Given the description of an element on the screen output the (x, y) to click on. 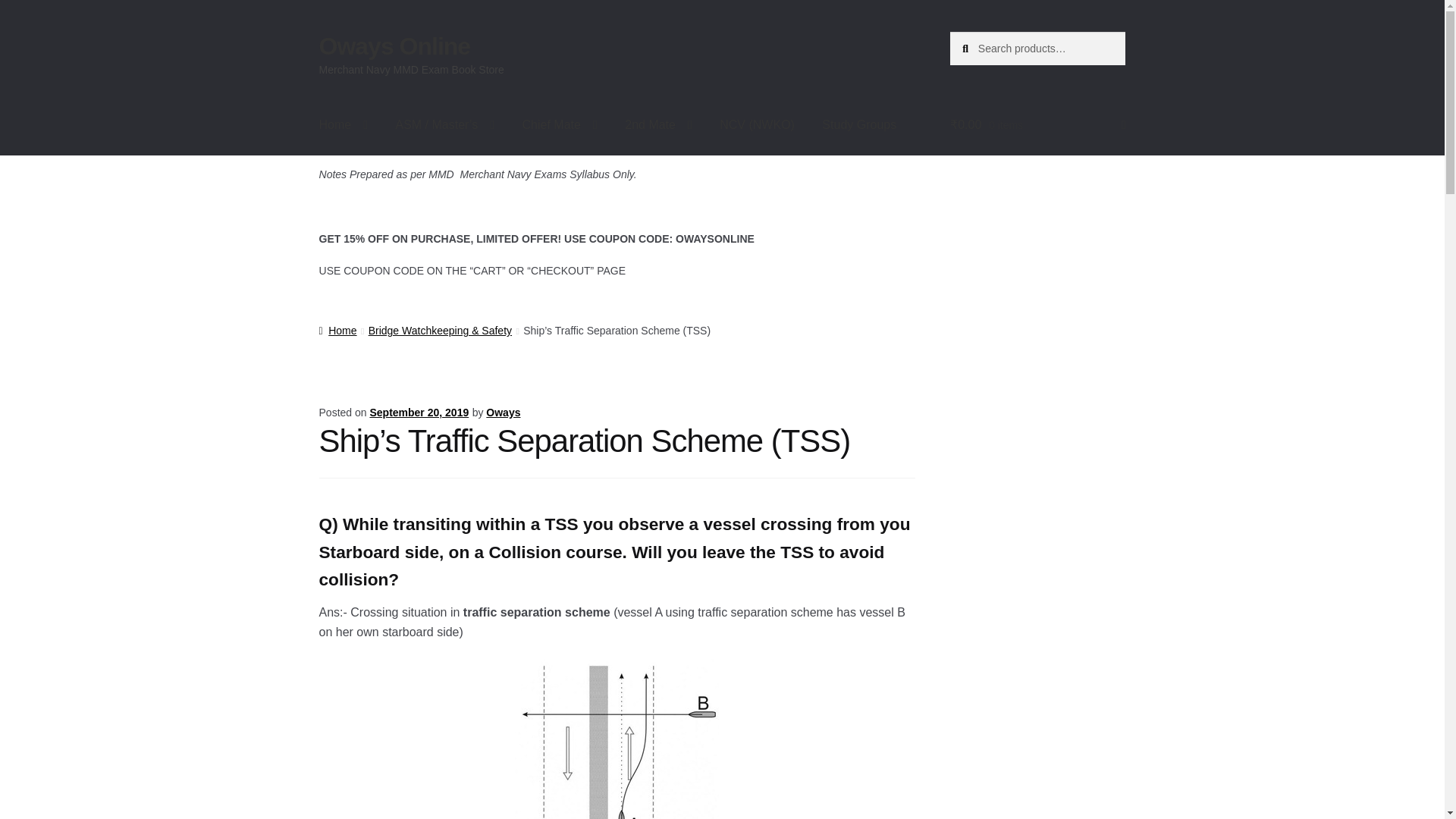
2nd Mate (658, 124)
View your shopping cart (1037, 124)
Home (343, 124)
Chief Mate (560, 124)
Oways Online (394, 45)
Study Groups (858, 124)
